Given the description of an element on the screen output the (x, y) to click on. 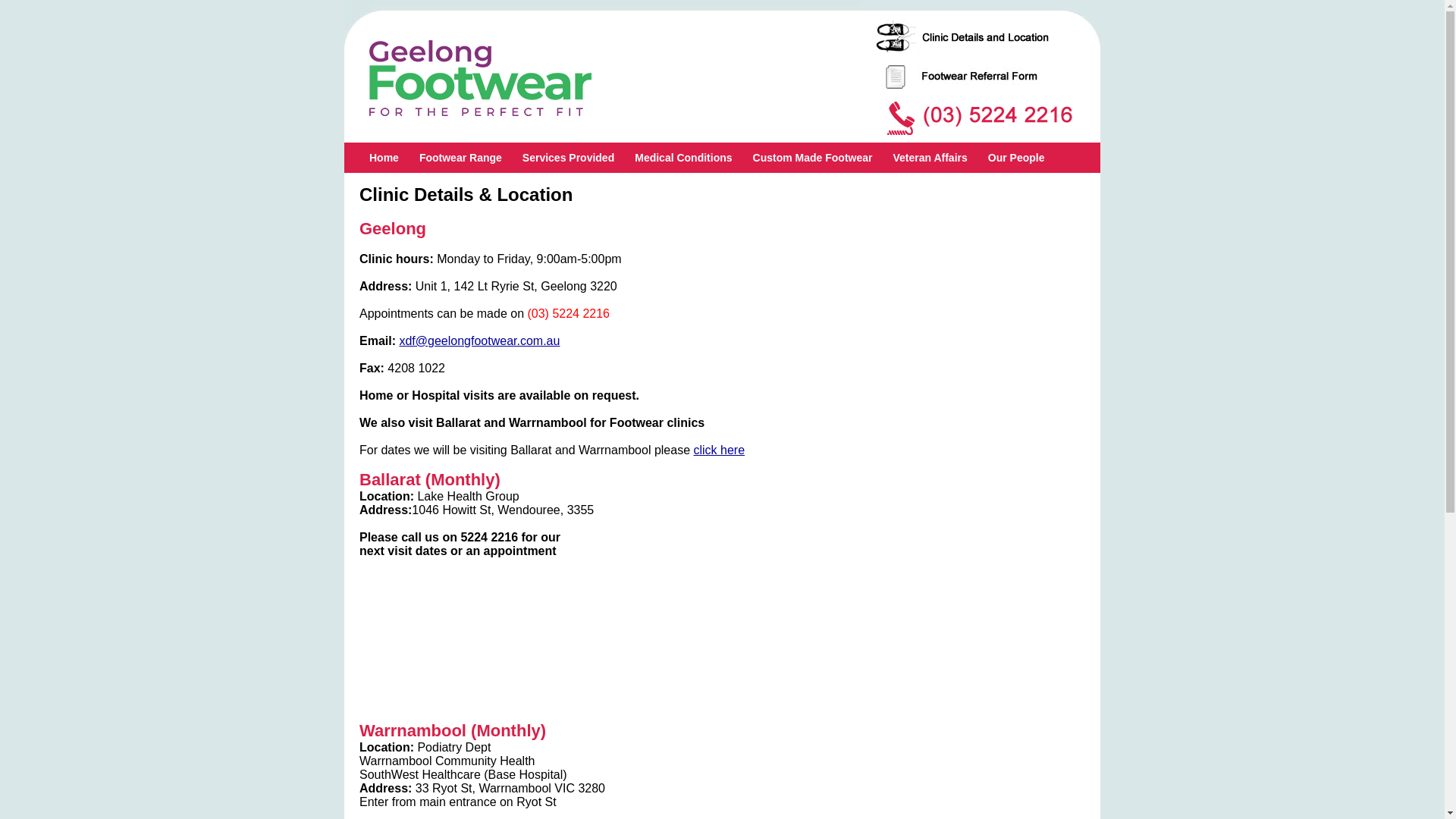
Medical Conditions Element type: text (682, 157)
Services Provided Element type: text (568, 157)
Home Element type: text (383, 157)
Footwear Range Element type: text (460, 157)
Veteran Affairs Element type: text (929, 157)
Our People Element type: text (1016, 157)
xdf@geelongfootwear.com.au Element type: text (478, 340)
click here Element type: text (718, 449)
Custom Made Footwear Element type: text (812, 157)
